Given the description of an element on the screen output the (x, y) to click on. 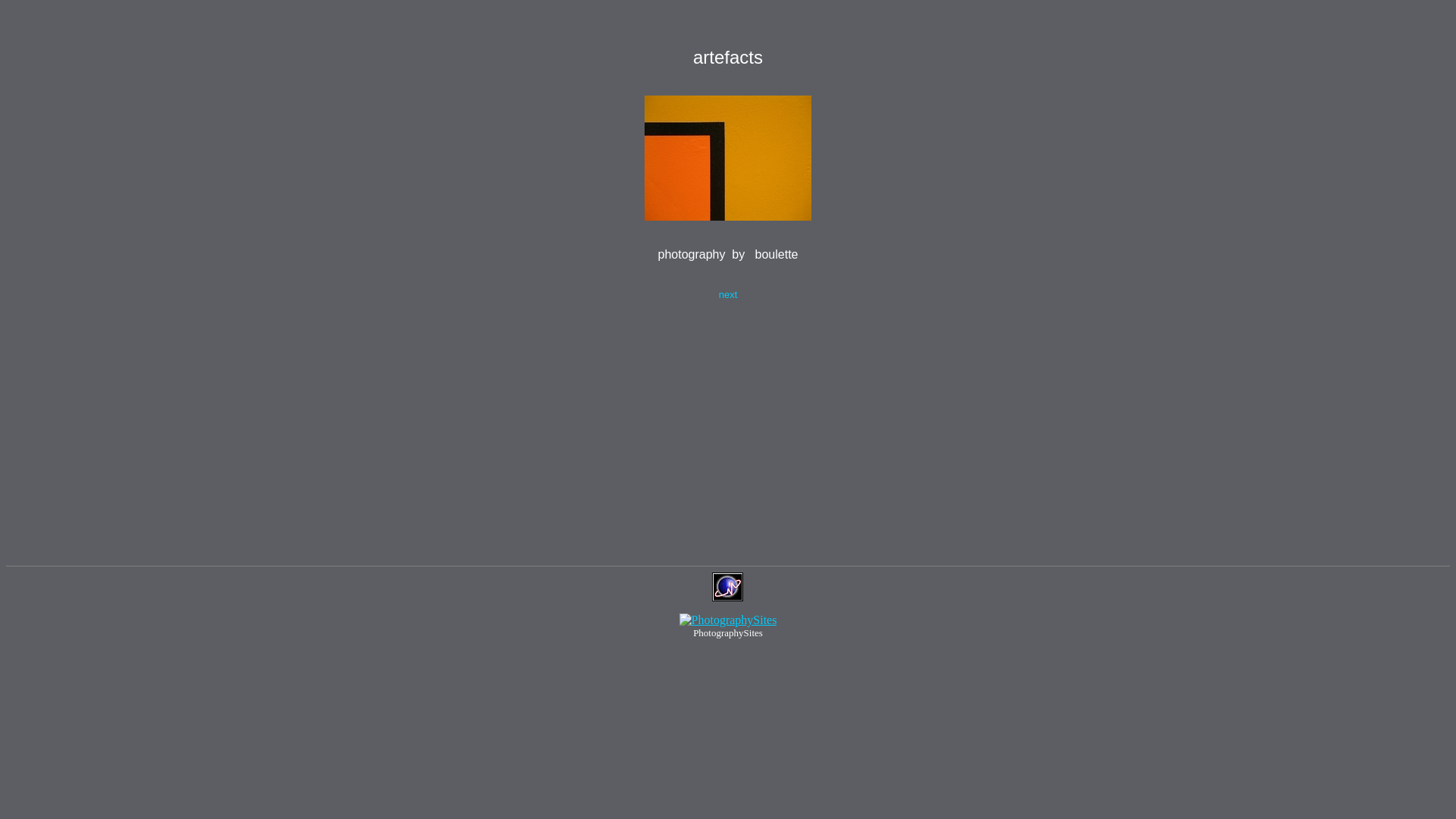
next Element type: text (727, 294)
